Given the description of an element on the screen output the (x, y) to click on. 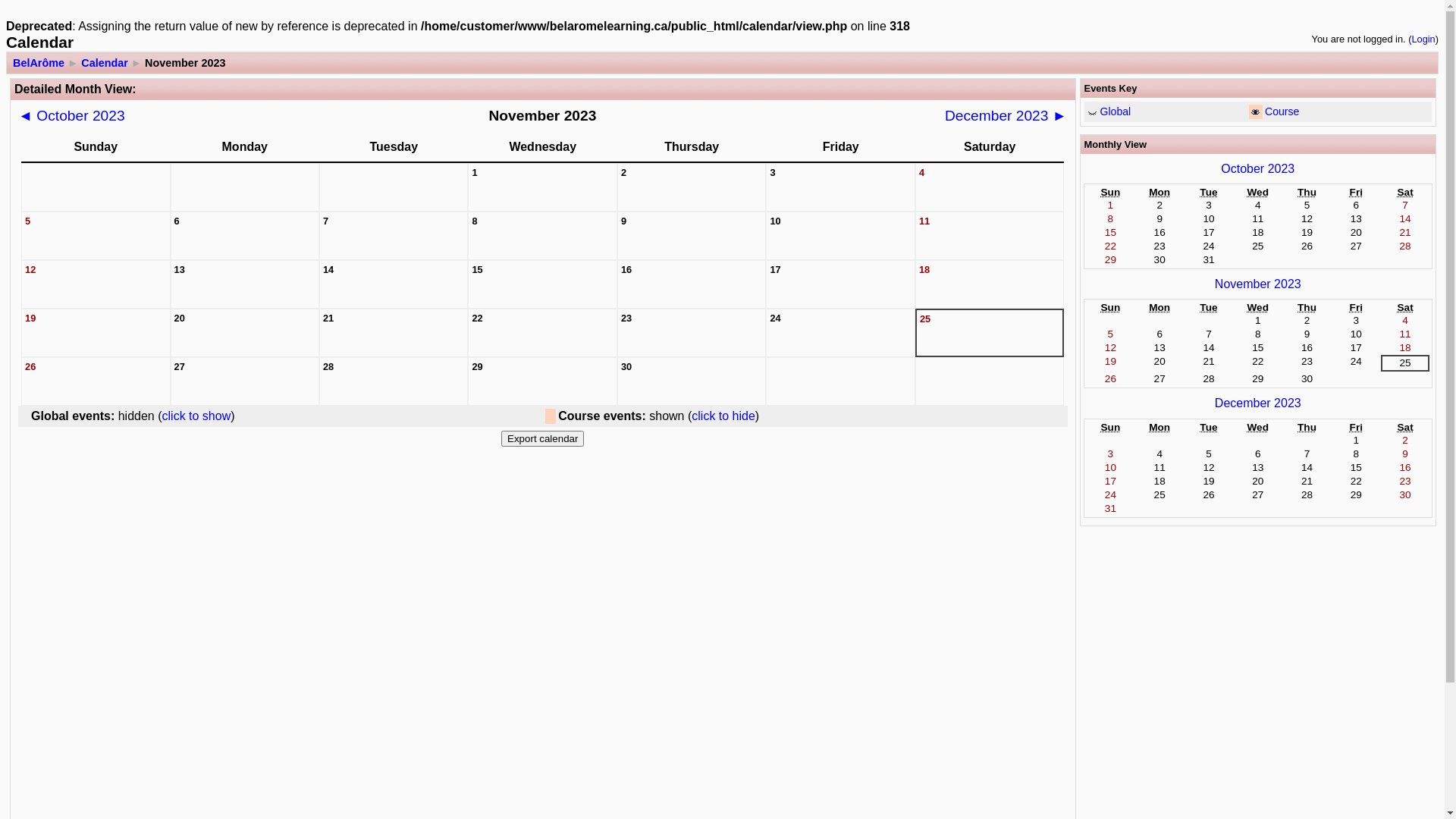
October 2023 Element type: text (1257, 168)
Global events are hidden (click to show) Element type: hover (1091, 111)
Export calendar Element type: text (542, 438)
December 2023 Element type: text (1257, 402)
Course Element type: text (1281, 111)
Global Element type: text (1114, 111)
25 Element type: text (1405, 362)
Course events are shown (click to hide) Element type: hover (1255, 111)
Login Element type: text (1422, 38)
click to show Element type: text (196, 415)
click to hide Element type: text (723, 415)
Calendar Element type: text (104, 62)
November 2023 Element type: text (1257, 283)
